Given the description of an element on the screen output the (x, y) to click on. 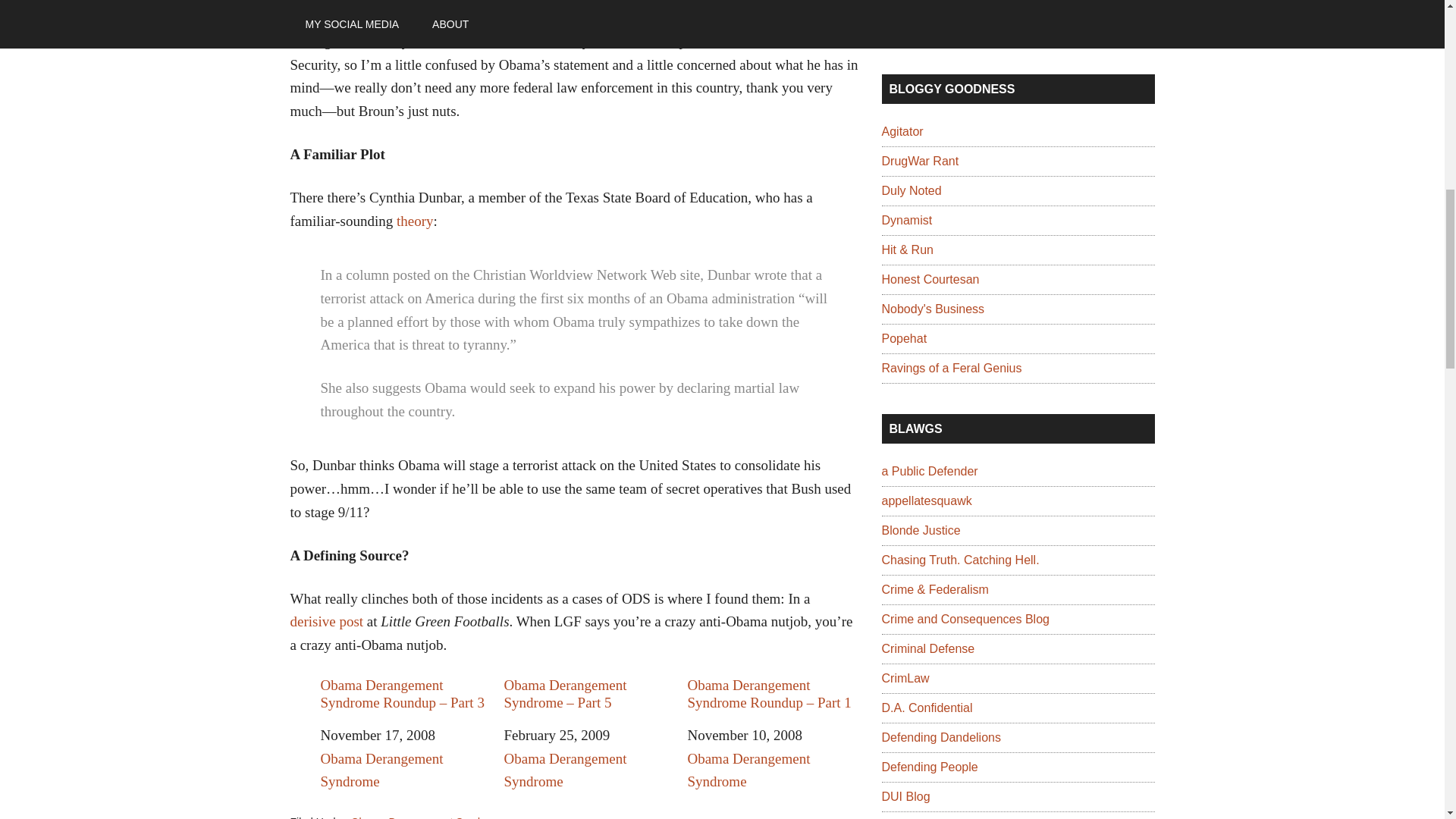
Jennifer Abel, the one and only (951, 367)
Obama Derangement Syndrome (381, 770)
Obama Derangement Syndrome (426, 817)
Virgina Postrel, author, columnist, and famous kidney doner. (905, 219)
Radley Balko, libertarian investigative reporter (901, 131)
theory (414, 220)
derisive post (325, 621)
A hilarious blog about appellate law. No, really. (925, 500)
Twitter (892, 13)
